Given the description of an element on the screen output the (x, y) to click on. 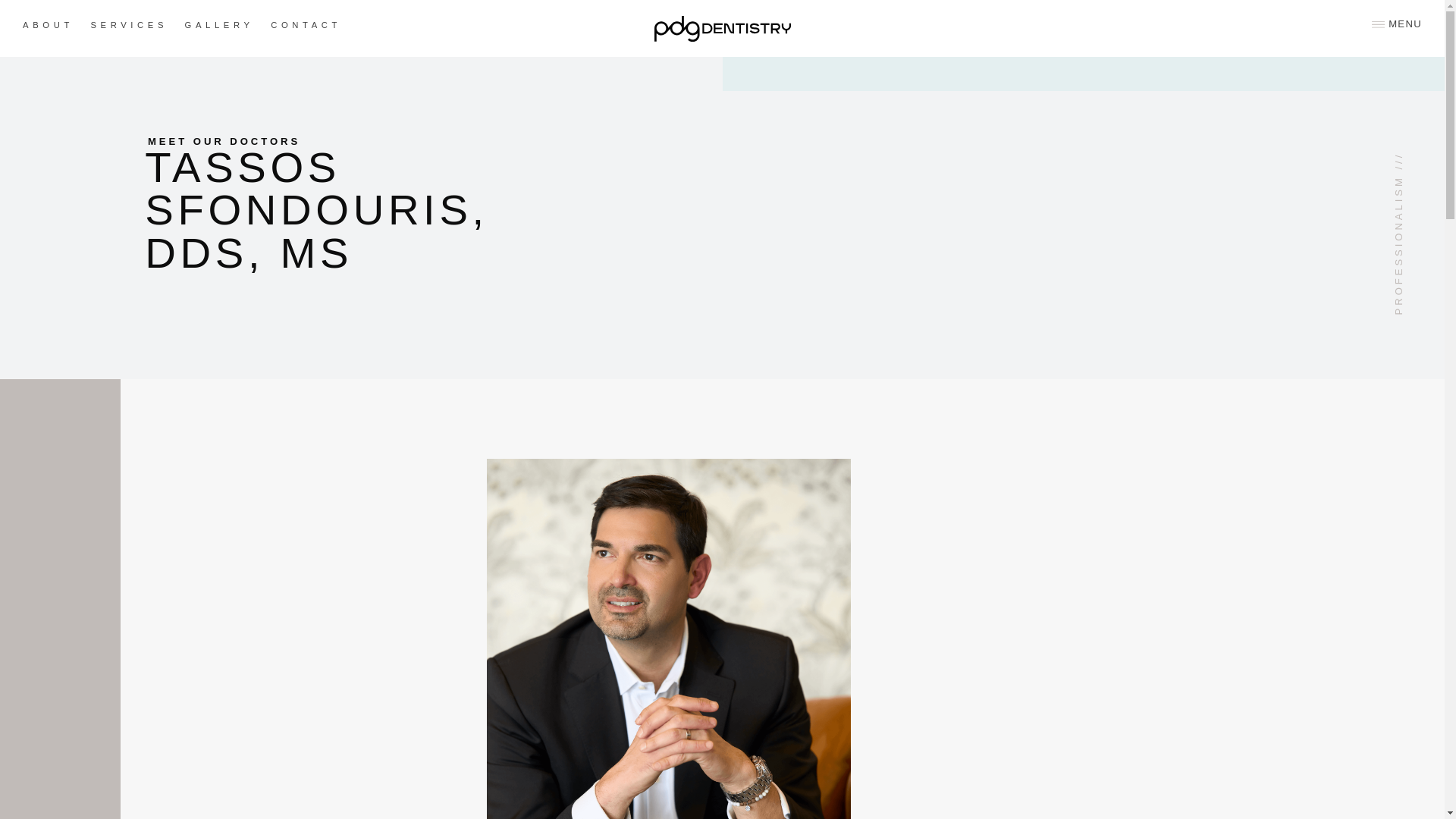
GALLERY (218, 24)
ABOUT (48, 24)
CONTACT (305, 24)
SERVICES (128, 24)
MENU (1400, 24)
